Given the description of an element on the screen output the (x, y) to click on. 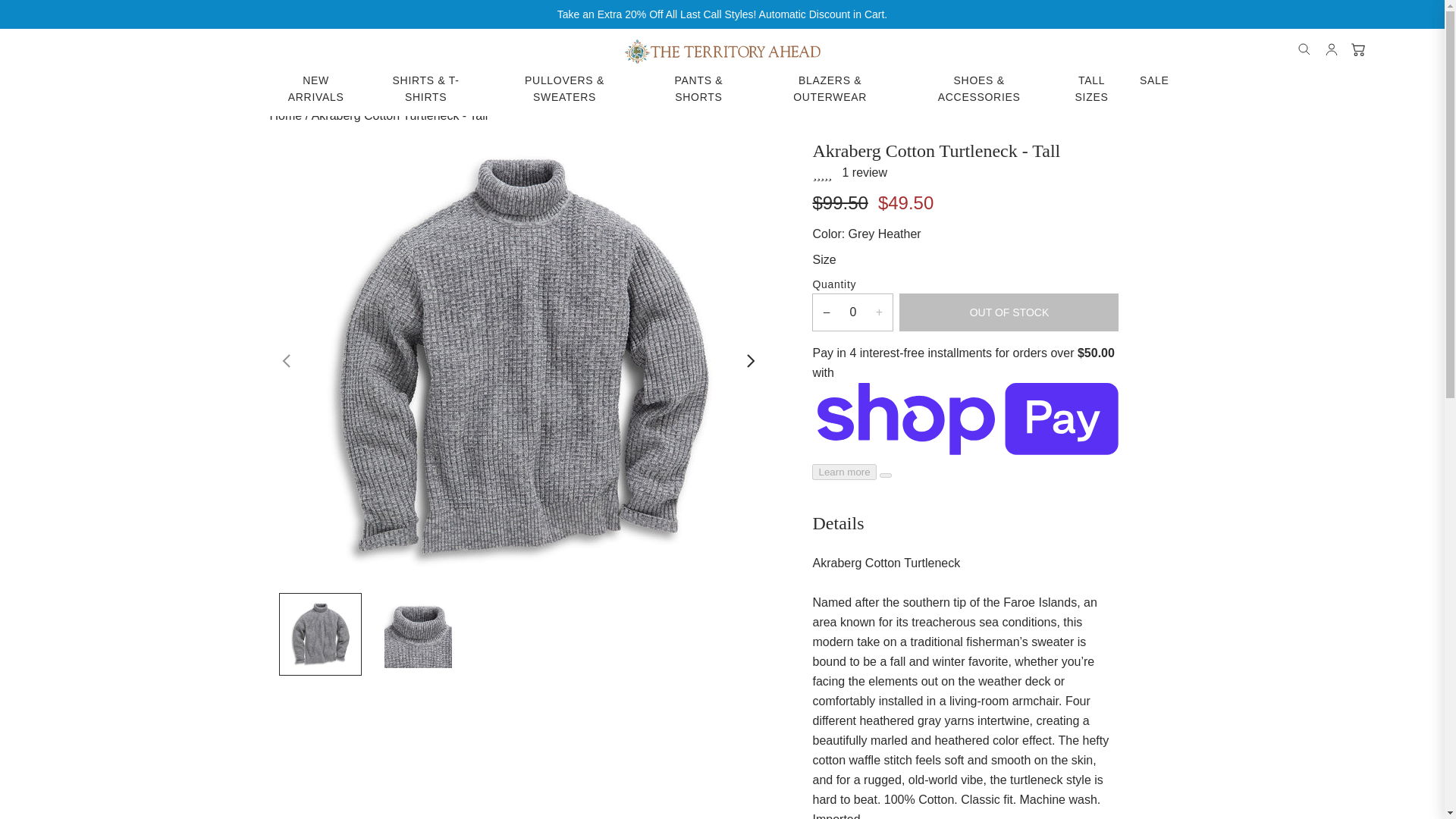
NEW ARRIVALS (316, 89)
Login (1331, 49)
Home (285, 115)
Search (1304, 49)
0 (852, 312)
